Given the description of an element on the screen output the (x, y) to click on. 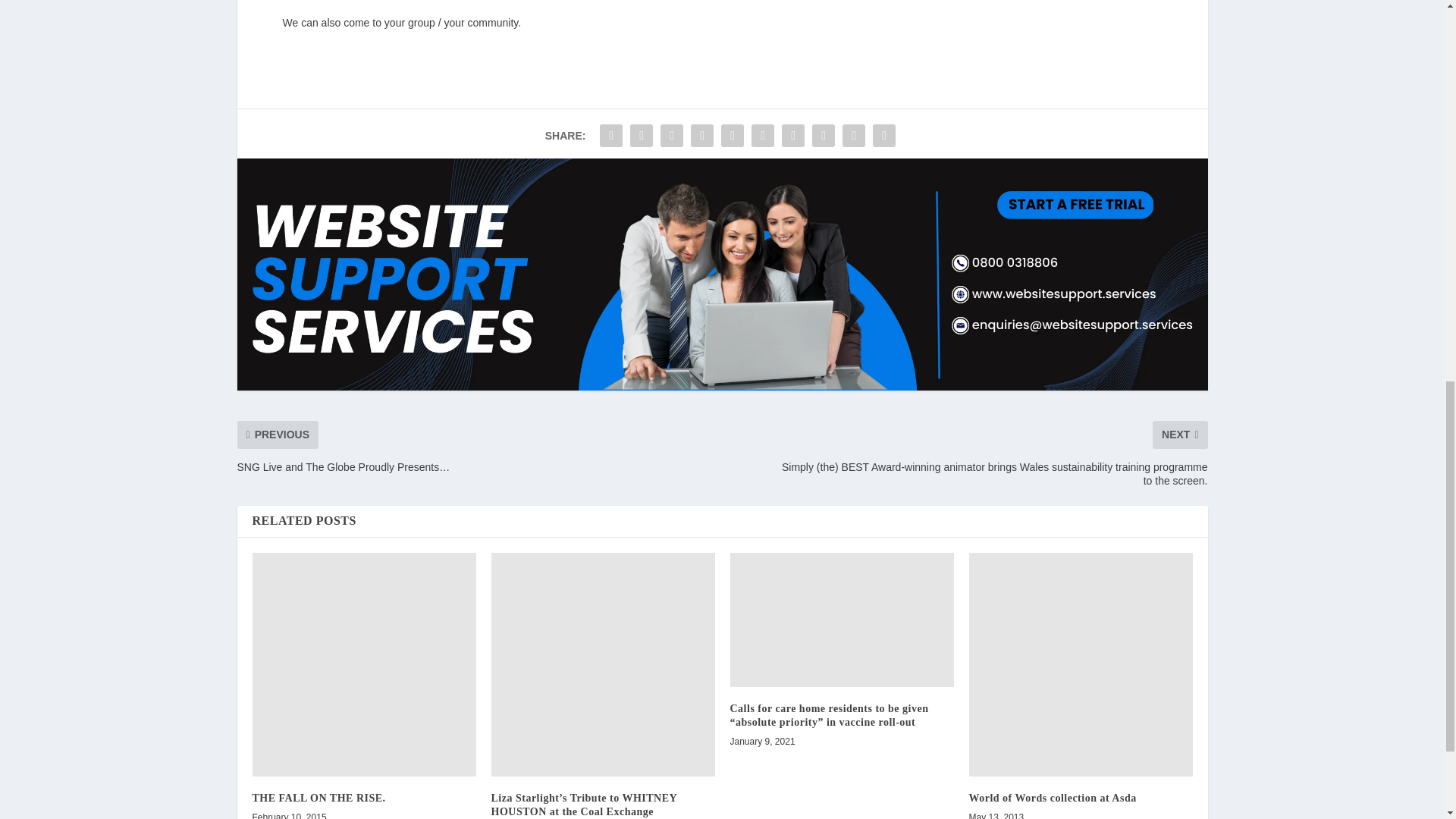
World of Words collection at Asda (1080, 664)
THE FALL ON THE RISE. (363, 664)
